Given the description of an element on the screen output the (x, y) to click on. 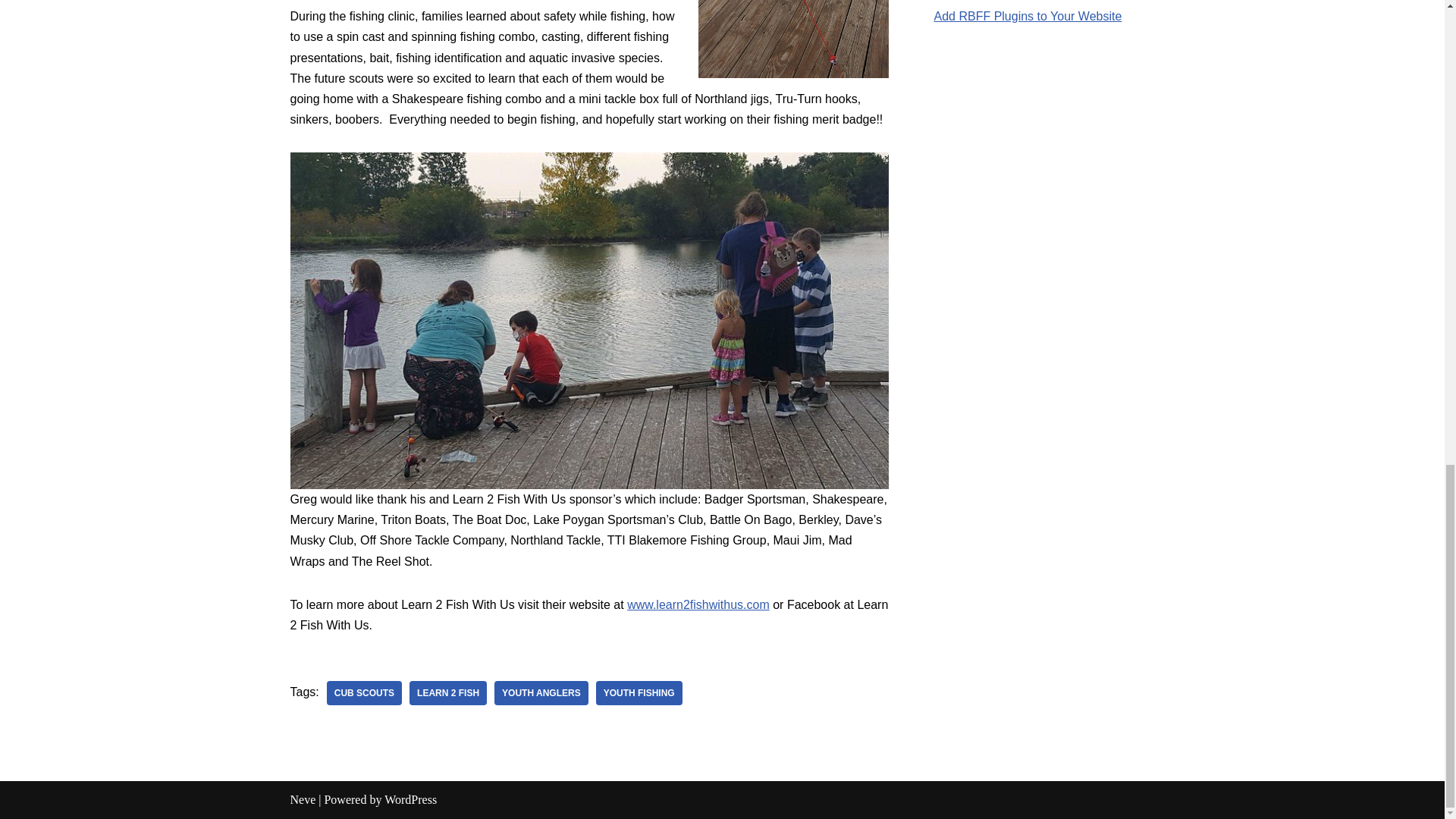
Cub Scouts (363, 692)
Youth Fishing (638, 692)
www.learn2fishwithus.com (698, 604)
Youth Anglers (541, 692)
YOUTH FISHING (638, 692)
YOUTH ANGLERS (541, 692)
LEARN 2 FISH (447, 692)
CUB SCOUTS (363, 692)
Learn 2 Fish (447, 692)
